Given the description of an element on the screen output the (x, y) to click on. 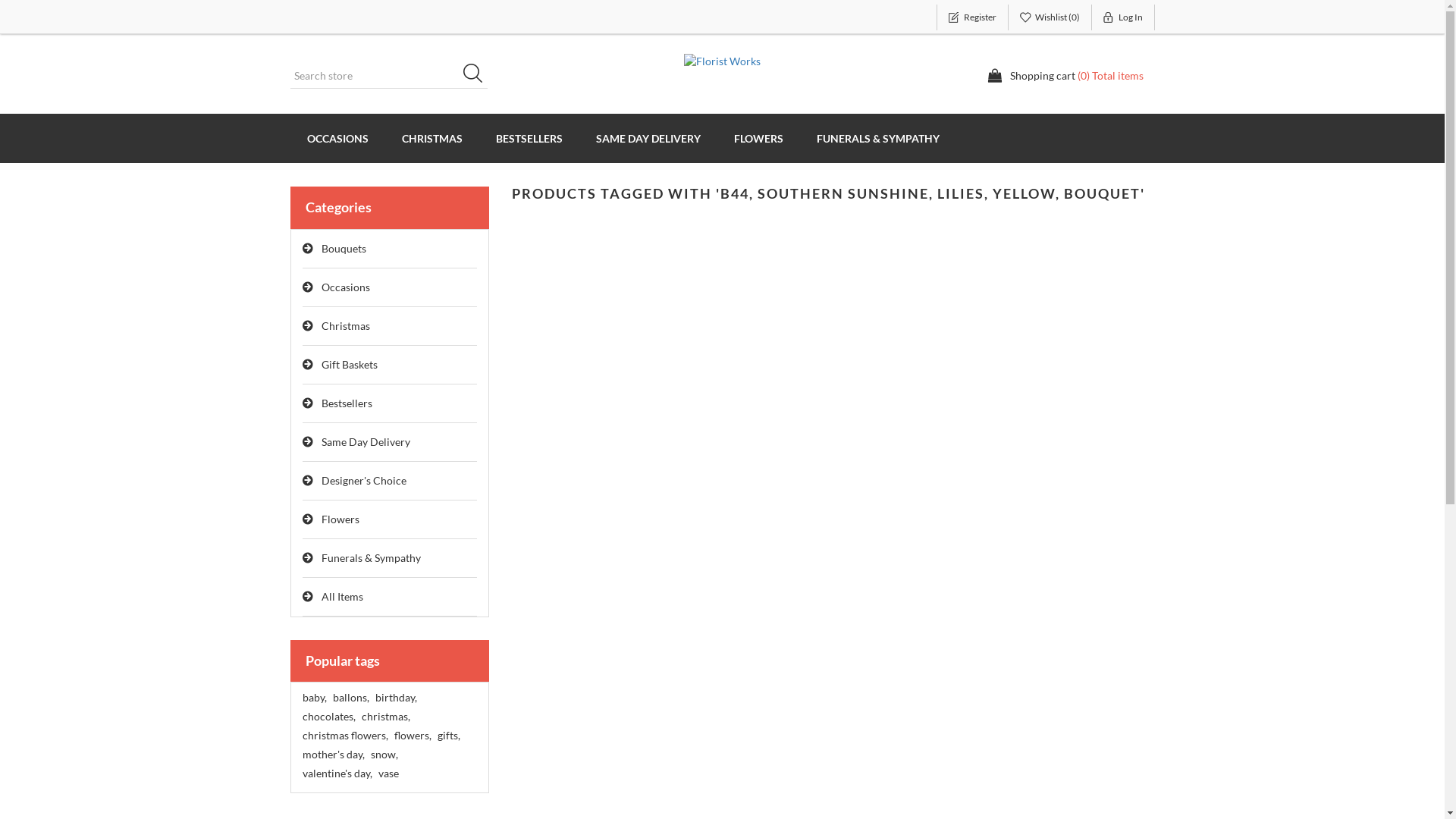
FLOWERS Element type: text (758, 138)
Wishlist (0) Element type: text (1050, 17)
snow, Element type: text (383, 754)
Shopping cart (0) Total items Element type: text (1065, 75)
Funerals & Sympathy Element type: text (388, 558)
CHRISTMAS Element type: text (432, 138)
Bouquets Element type: text (388, 248)
Designer's Choice Element type: text (388, 480)
Gift Baskets Element type: text (388, 364)
flowers, Element type: text (412, 735)
Register Element type: text (971, 17)
BESTSELLERS Element type: text (529, 138)
christmas, Element type: text (384, 716)
All Items Element type: text (388, 596)
Christmas Element type: text (388, 326)
FUNERALS & SYMPATHY Element type: text (877, 138)
Same Day Delivery Element type: text (388, 442)
chocolates, Element type: text (327, 716)
Occasions Element type: text (388, 287)
Flowers Element type: text (388, 519)
birthday, Element type: text (395, 697)
christmas flowers, Element type: text (344, 735)
SAME DAY DELIVERY Element type: text (648, 138)
Bestsellers Element type: text (388, 403)
mother's day, Element type: text (332, 754)
valentine's day, Element type: text (336, 773)
gifts, Element type: text (447, 735)
ballons, Element type: text (350, 697)
OCCASIONS Element type: text (336, 138)
Log In Element type: text (1123, 17)
baby, Element type: text (313, 697)
vase Element type: text (387, 773)
